Given the description of an element on the screen output the (x, y) to click on. 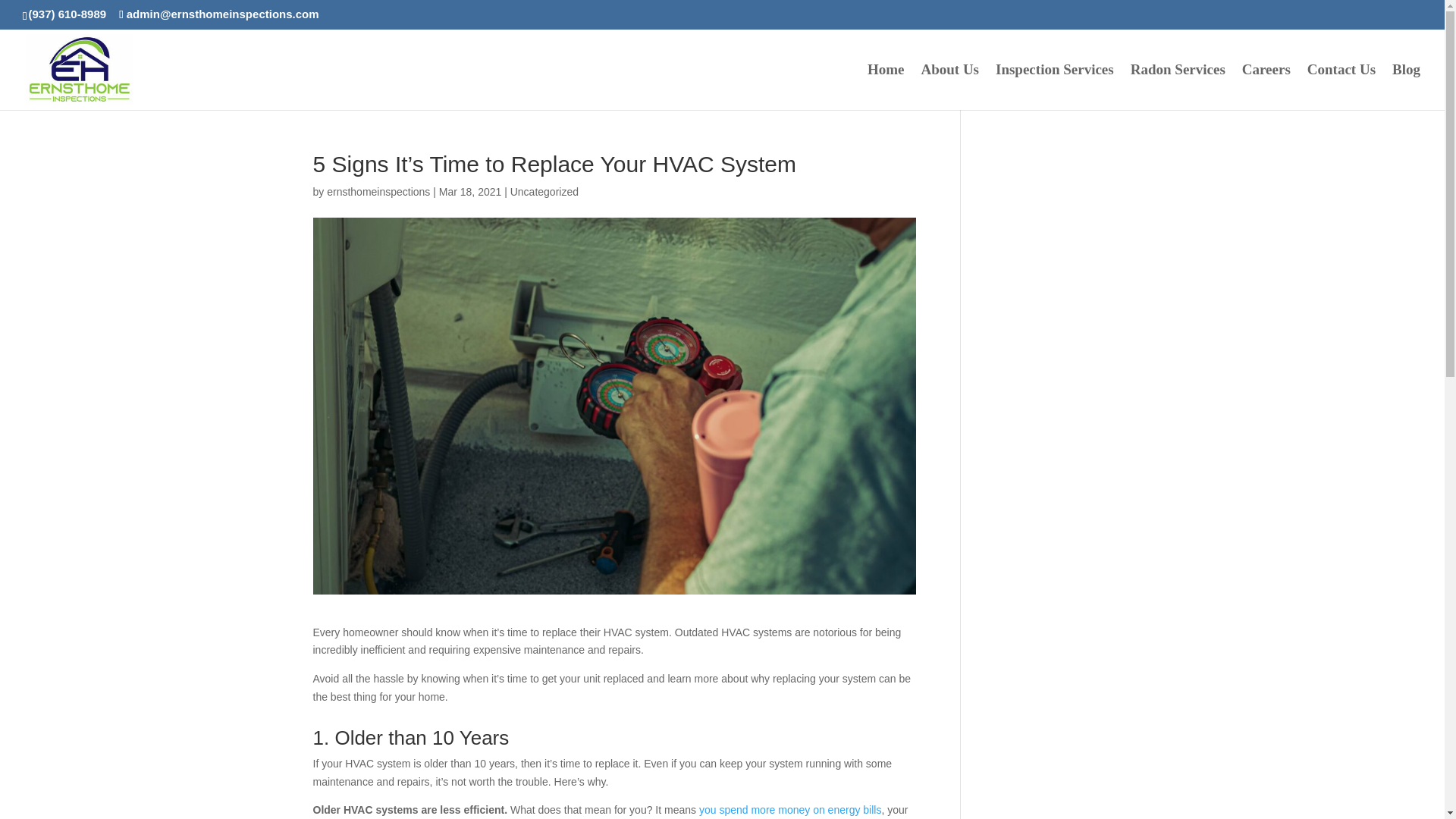
Blog (1406, 85)
Radon Services (1178, 85)
Careers (1265, 85)
Home (885, 85)
ernsthomeinspections (377, 191)
Contact Us (1341, 85)
About Us (949, 85)
you spend more money on energy bills (789, 809)
Uncategorized (544, 191)
Inspection Services (1054, 85)
Posts by ernsthomeinspections (377, 191)
